Given the description of an element on the screen output the (x, y) to click on. 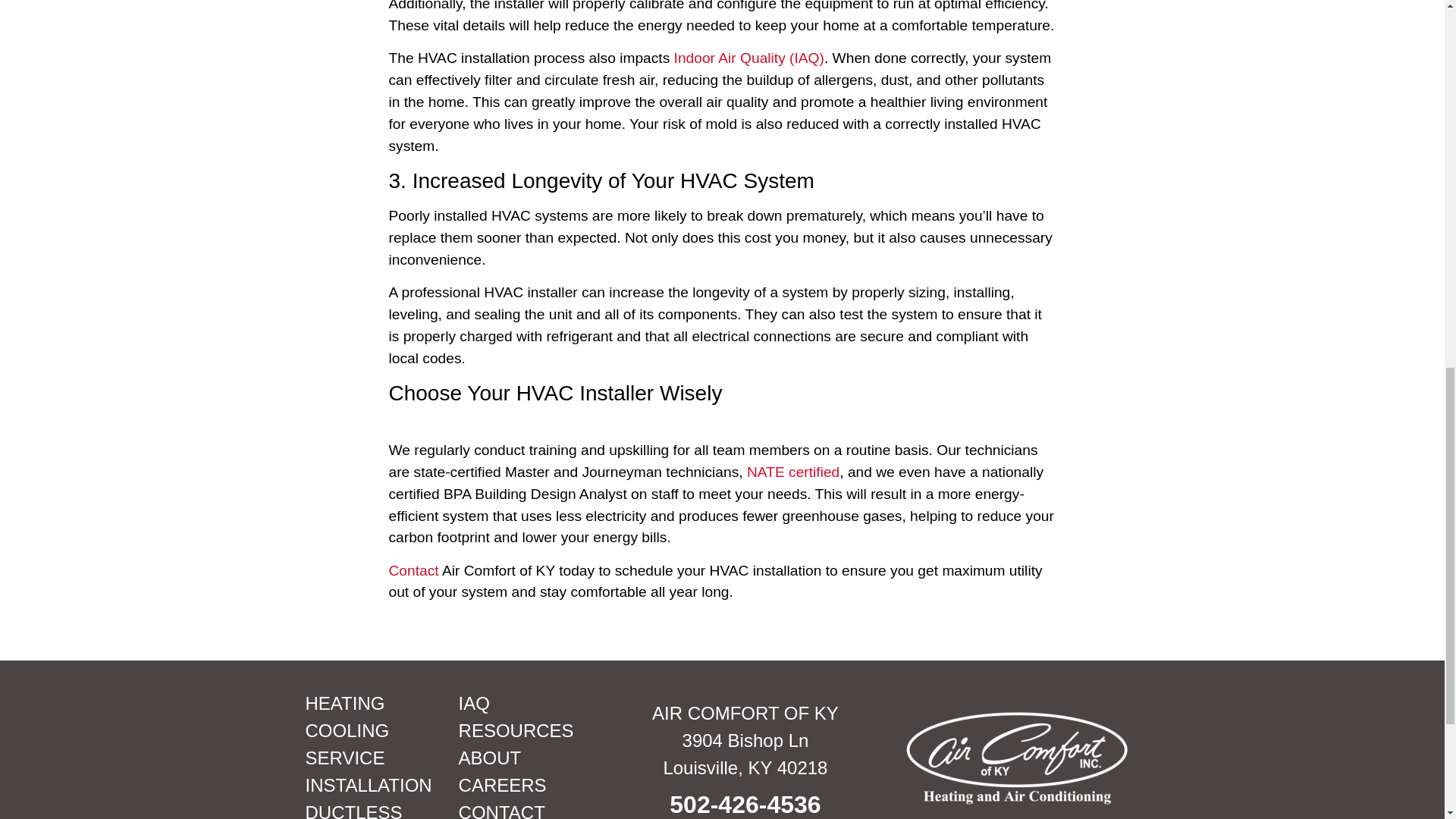
INSTALLATION (373, 785)
RESOURCES (527, 730)
ABOUT (527, 758)
CONTACT (527, 809)
IAQ (527, 703)
Contact (413, 570)
SERVICE (373, 758)
COOLING (373, 730)
NATE certified (793, 471)
DUCTLESS (373, 809)
